Given the description of an element on the screen output the (x, y) to click on. 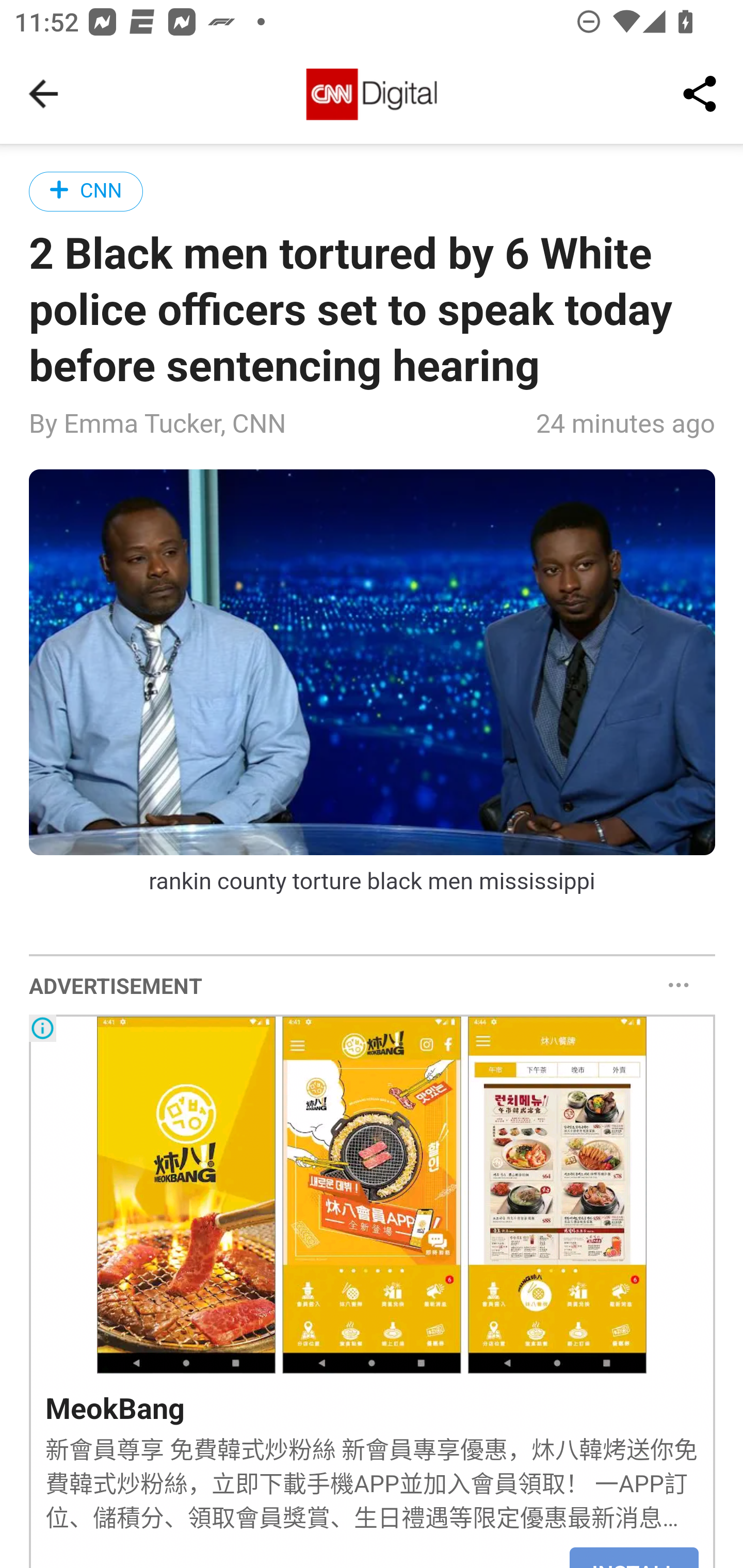
CNN (86, 191)
